Given the description of an element on the screen output the (x, y) to click on. 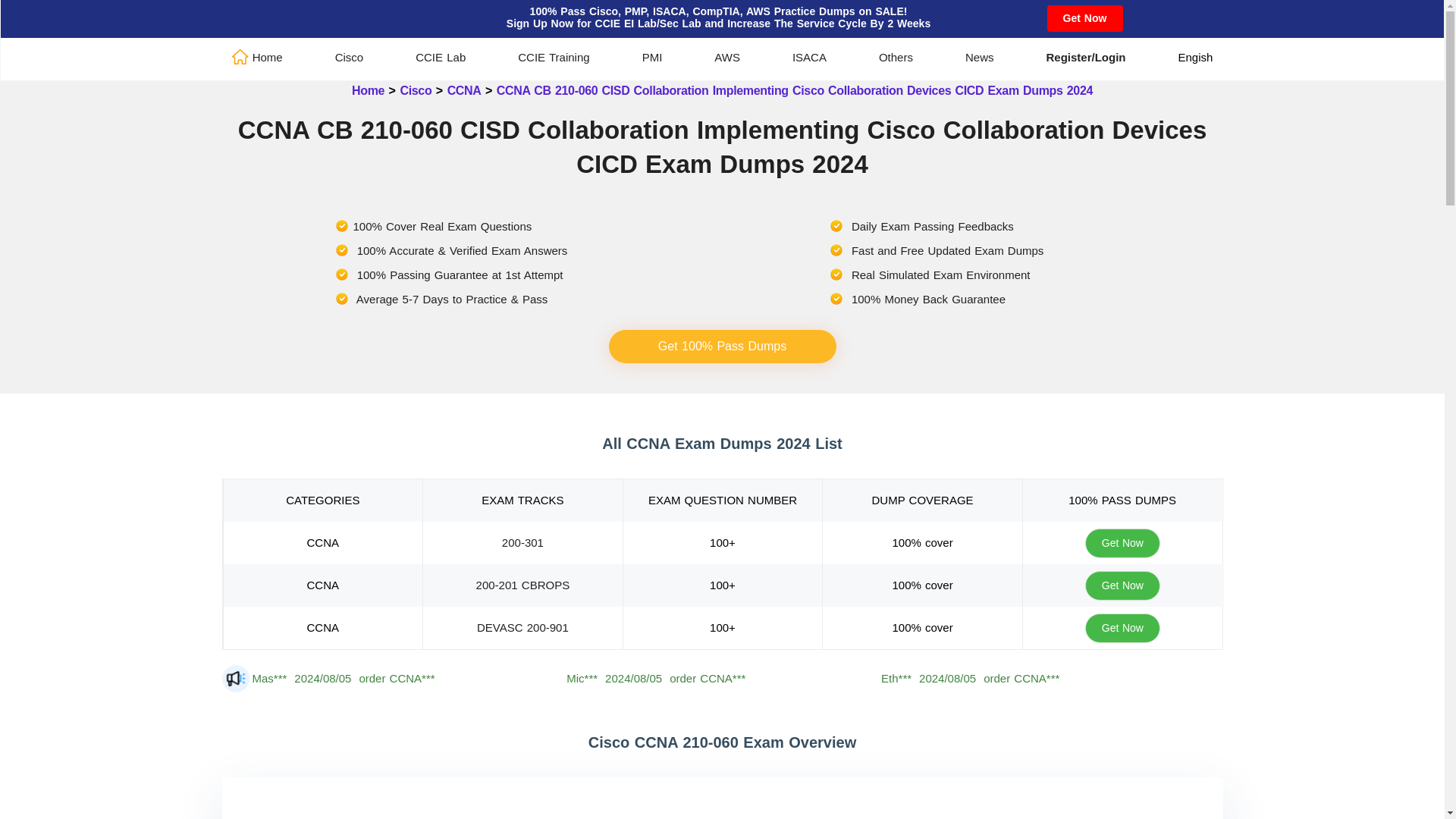
Home (256, 56)
CCIE Training (553, 56)
Cisco (349, 56)
CCIE Lab (439, 56)
Get Now (1084, 17)
PMI (652, 56)
